Given the description of an element on the screen output the (x, y) to click on. 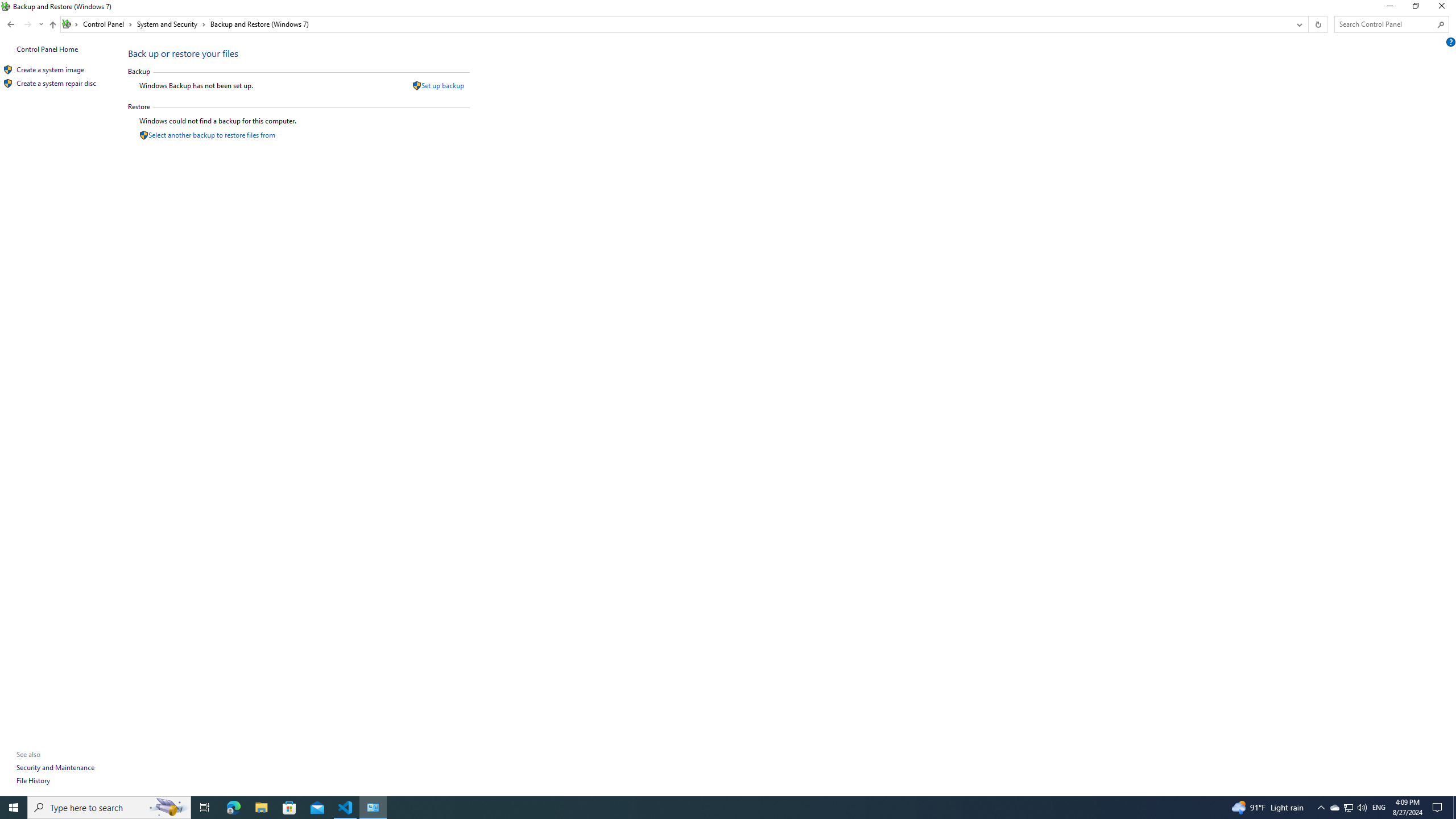
System (6, 6)
Control Panel - 1 running window (373, 807)
Control Panel Home (47, 49)
User Promoted Notification Area (1347, 807)
System (6, 6)
System and Security (171, 23)
Microsoft Edge (233, 807)
Control Panel (107, 23)
Help (1450, 41)
Show desktop (1454, 807)
Microsoft Store (289, 807)
Type here to search (108, 807)
Visual Studio Code - 1 running window (345, 807)
